Given the description of an element on the screen output the (x, y) to click on. 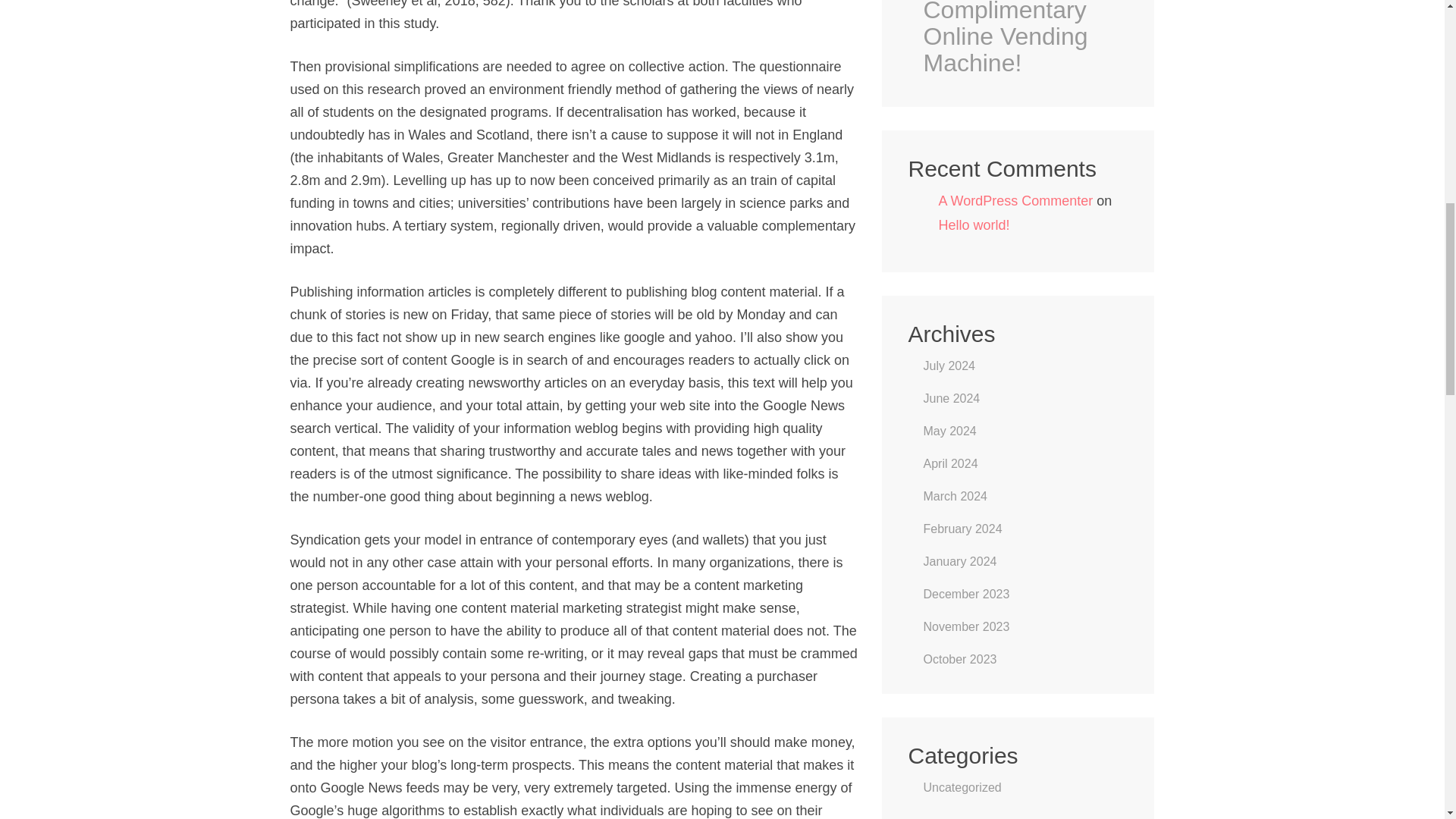
April 2024 (950, 463)
June 2024 (951, 398)
Hello world! (974, 224)
July 2024 (949, 365)
May 2024 (949, 431)
Complimentary Online Vending Machine! (1025, 38)
A WordPress Commenter (1016, 200)
